Given the description of an element on the screen output the (x, y) to click on. 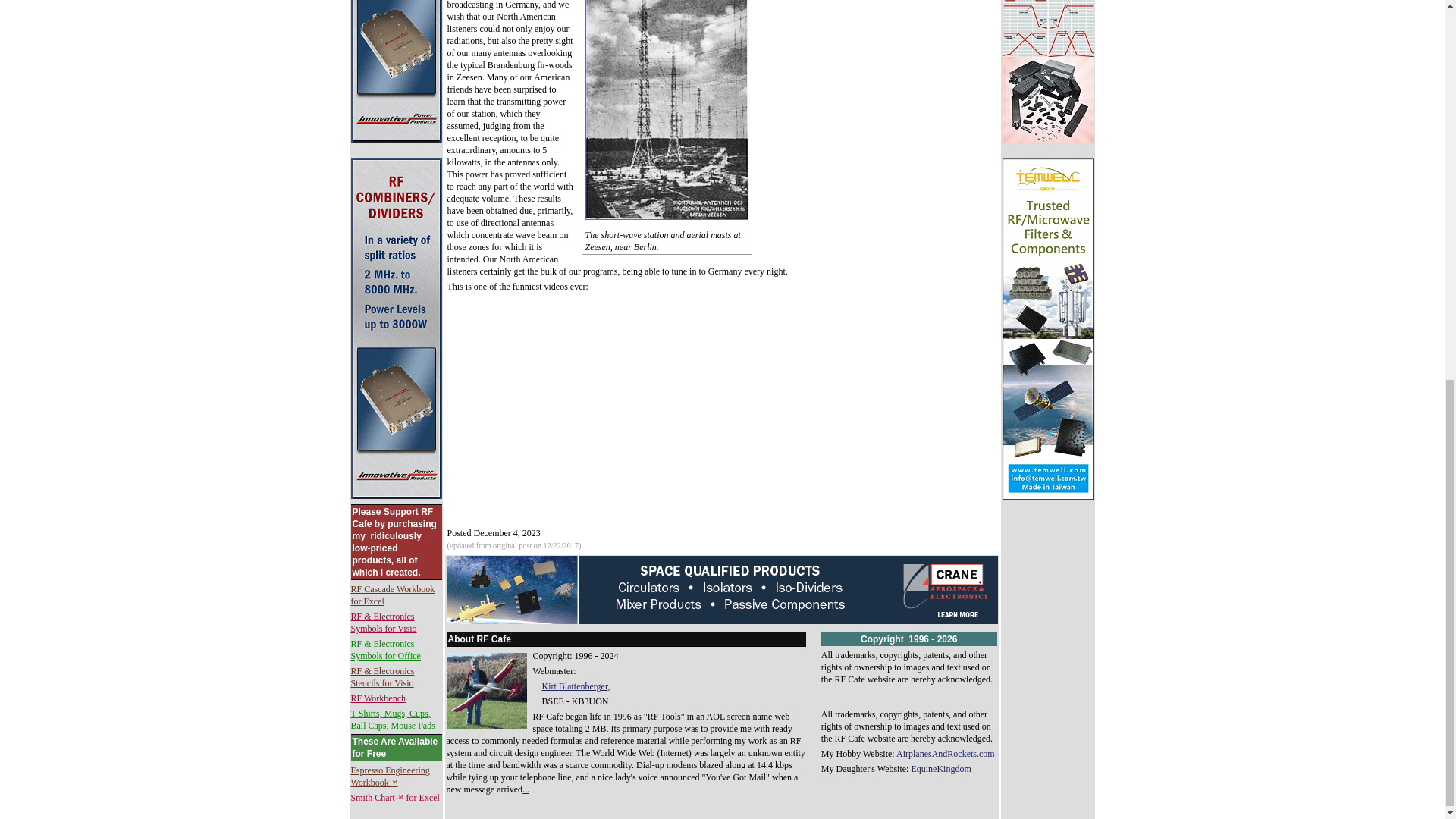
T-Shirts, Mugs, Cups, Ball Caps, Mouse Pads (391, 719)
EquineKingdom (941, 768)
Kirt Blattenberger (574, 685)
AirplanesAndRockets.com (945, 753)
RF Cascade Workbook for Excel (391, 594)
RF Workbench (377, 697)
